Given the description of an element on the screen output the (x, y) to click on. 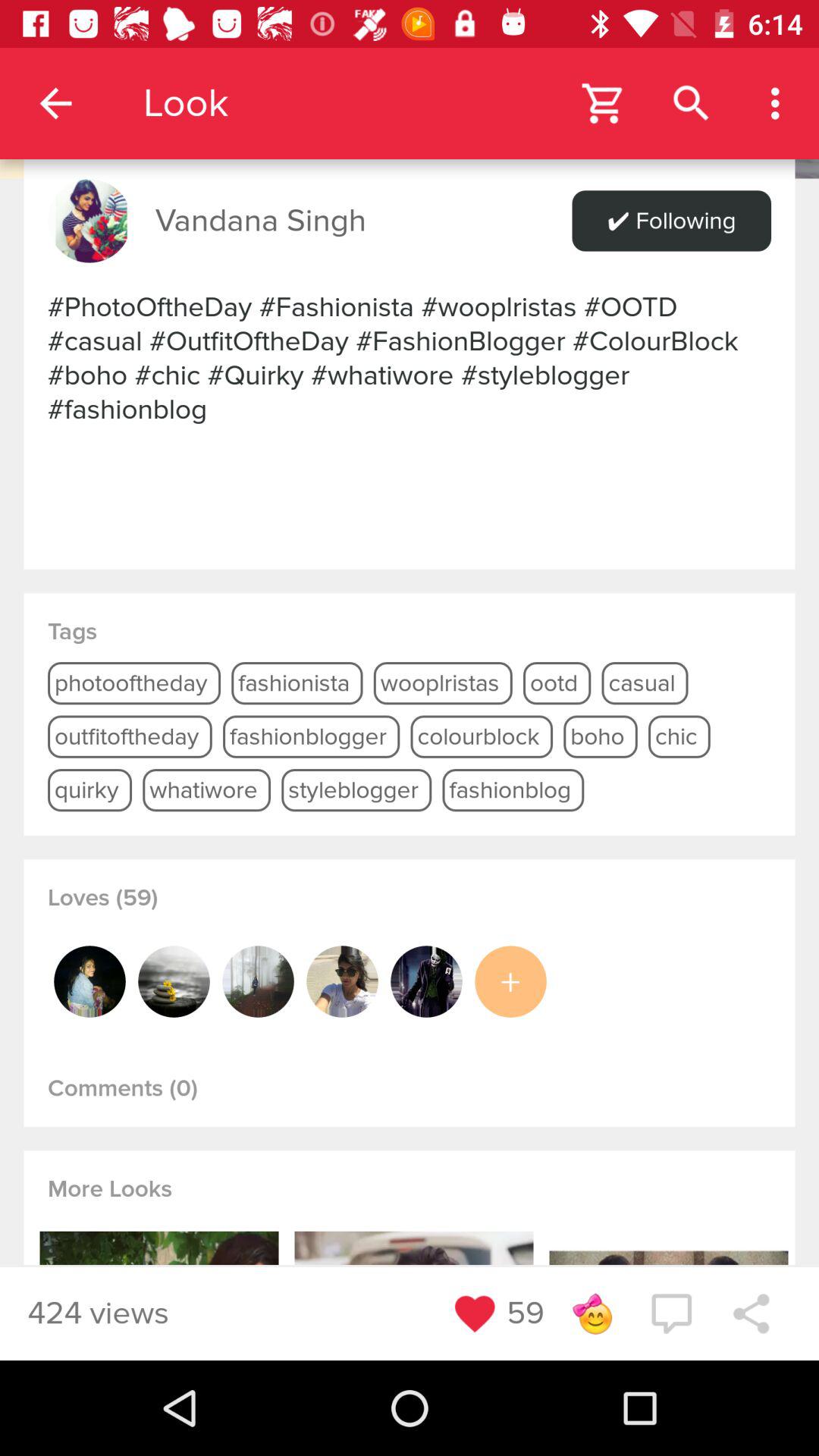
user image thumbnail (342, 981)
